Given the description of an element on the screen output the (x, y) to click on. 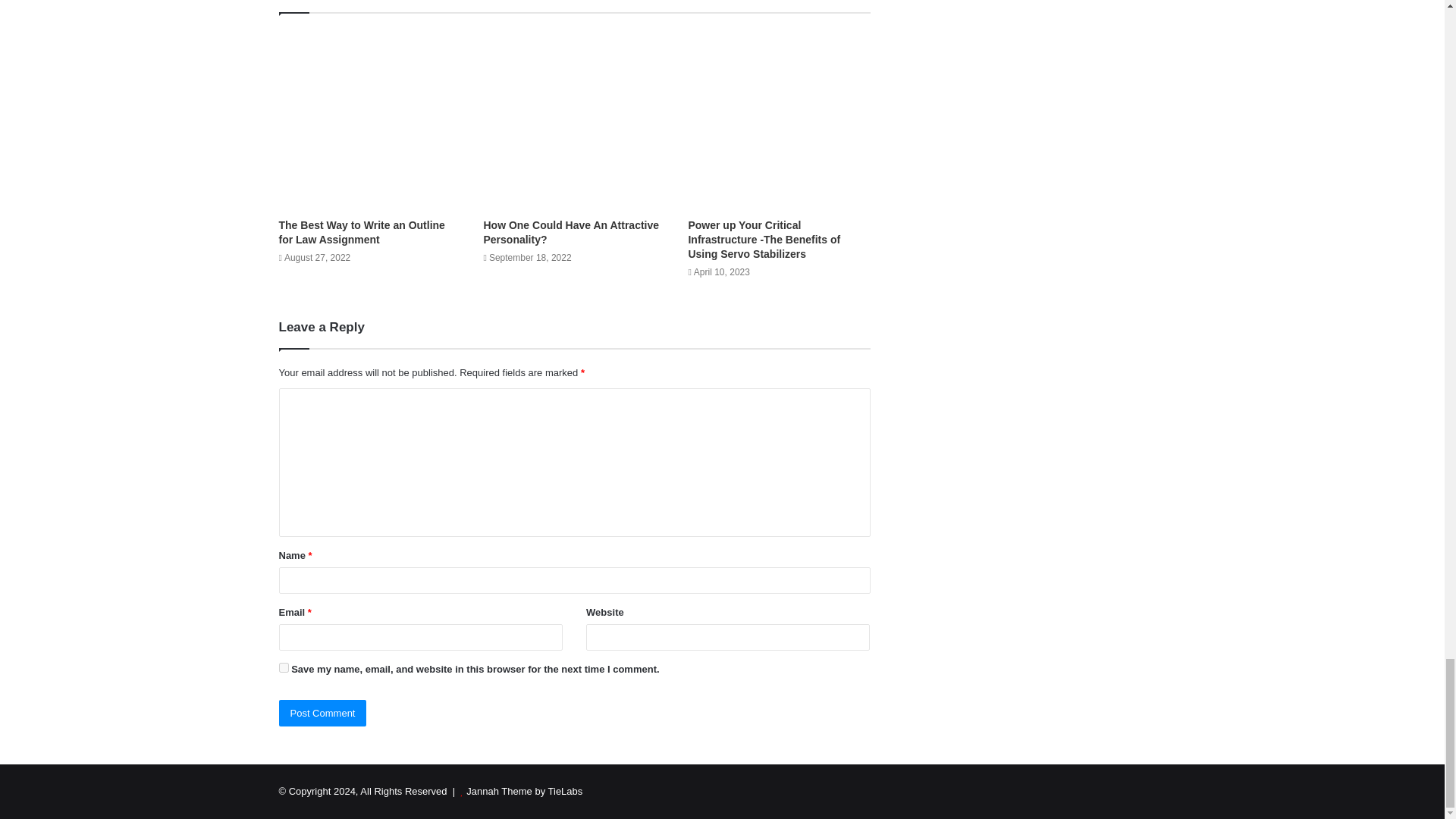
yes (283, 667)
Post Comment (322, 713)
